Given the description of an element on the screen output the (x, y) to click on. 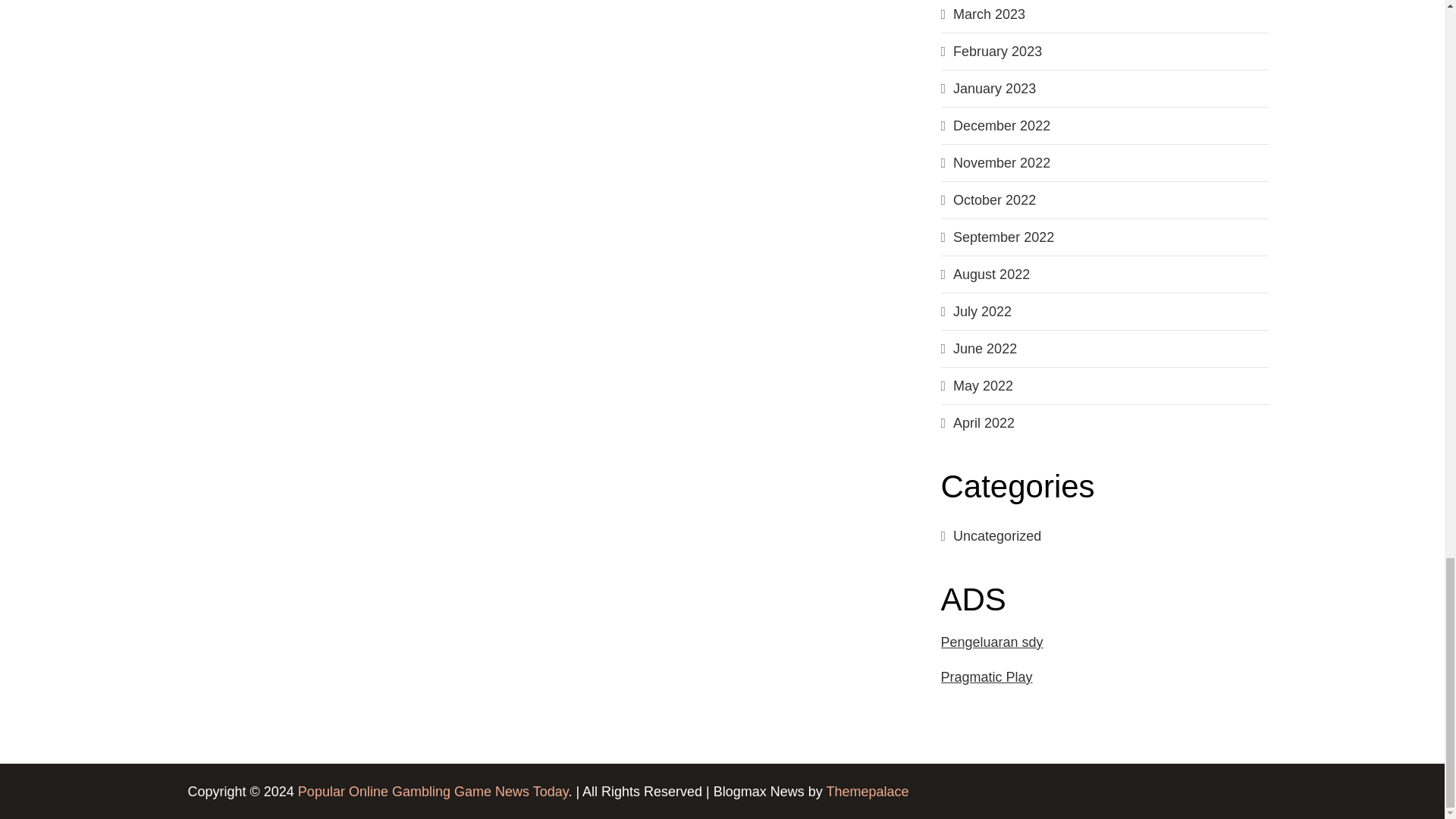
March 2023 (989, 14)
December 2022 (1001, 125)
January 2023 (994, 88)
February 2023 (997, 51)
